Given the description of an element on the screen output the (x, y) to click on. 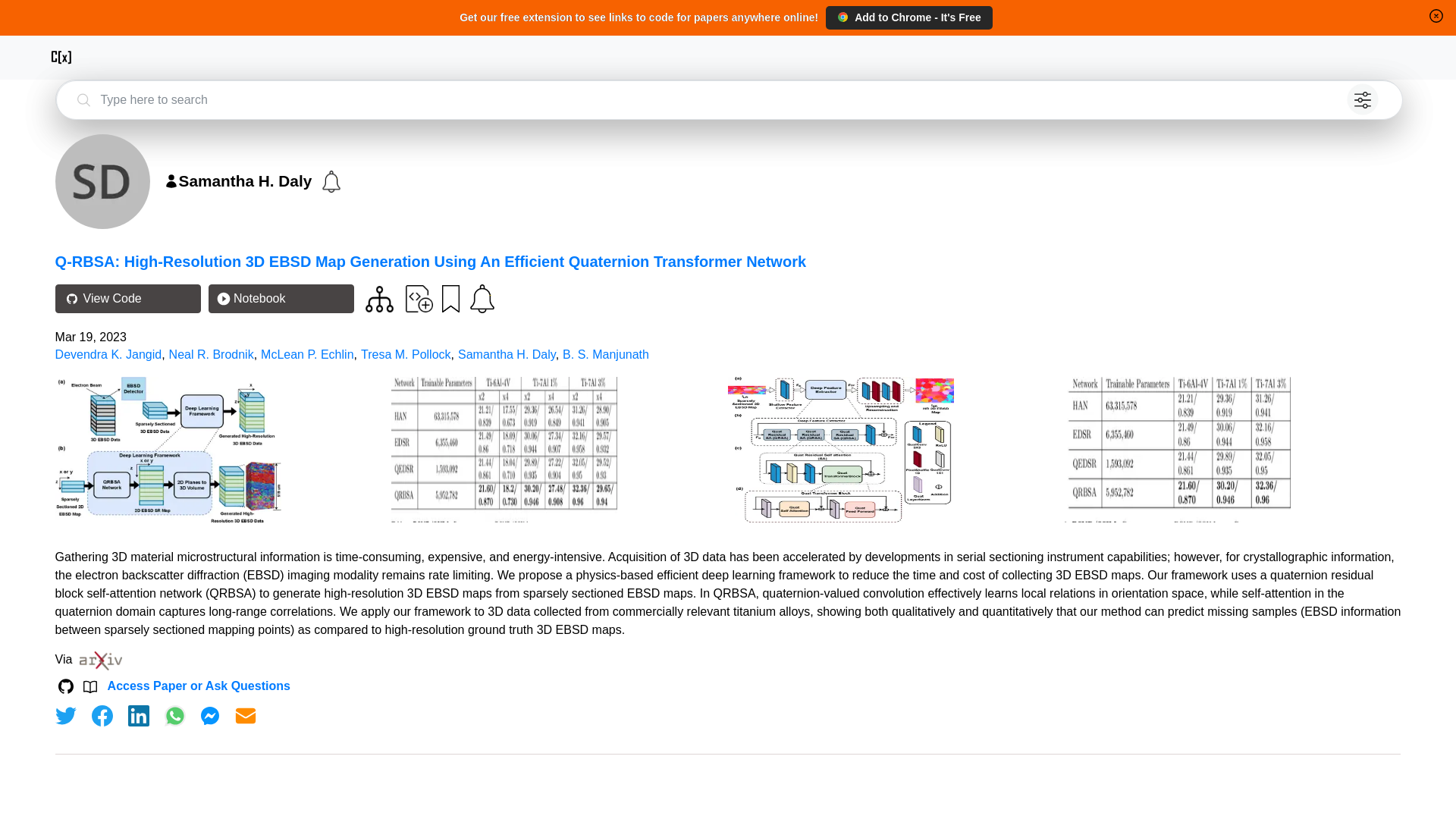
Tresa M. Pollock (406, 354)
View code for similar papers (379, 298)
Neal R. Brodnik (210, 354)
Share via Email (245, 715)
Add to Chrome - It's Free (908, 17)
Notebook (280, 298)
Devendra K. Jangid (108, 354)
Contribute your code for this paper to the community (419, 298)
McLean P. Echlin (306, 354)
